Given the description of an element on the screen output the (x, y) to click on. 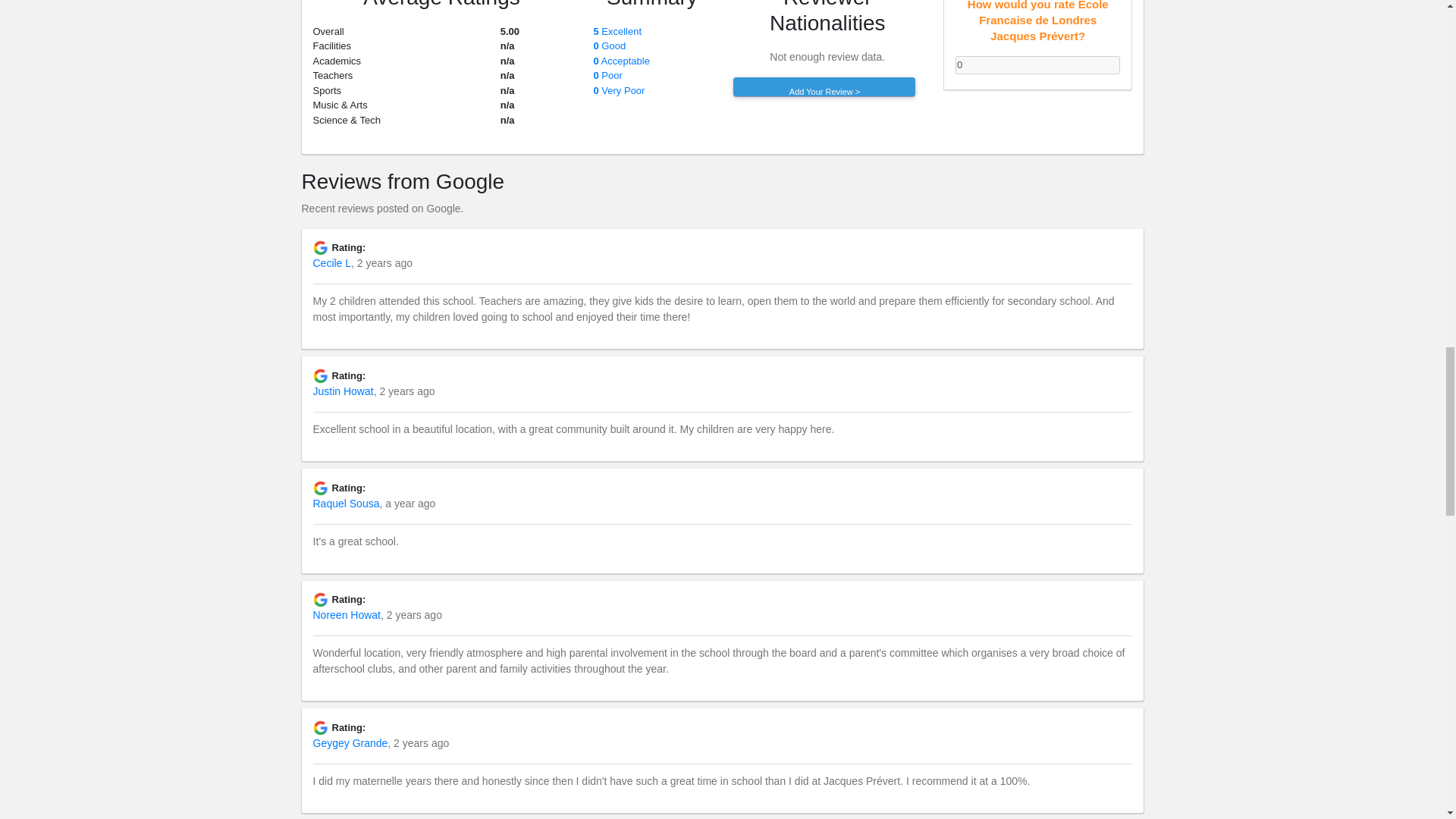
0 (1038, 65)
